Given the description of an element on the screen output the (x, y) to click on. 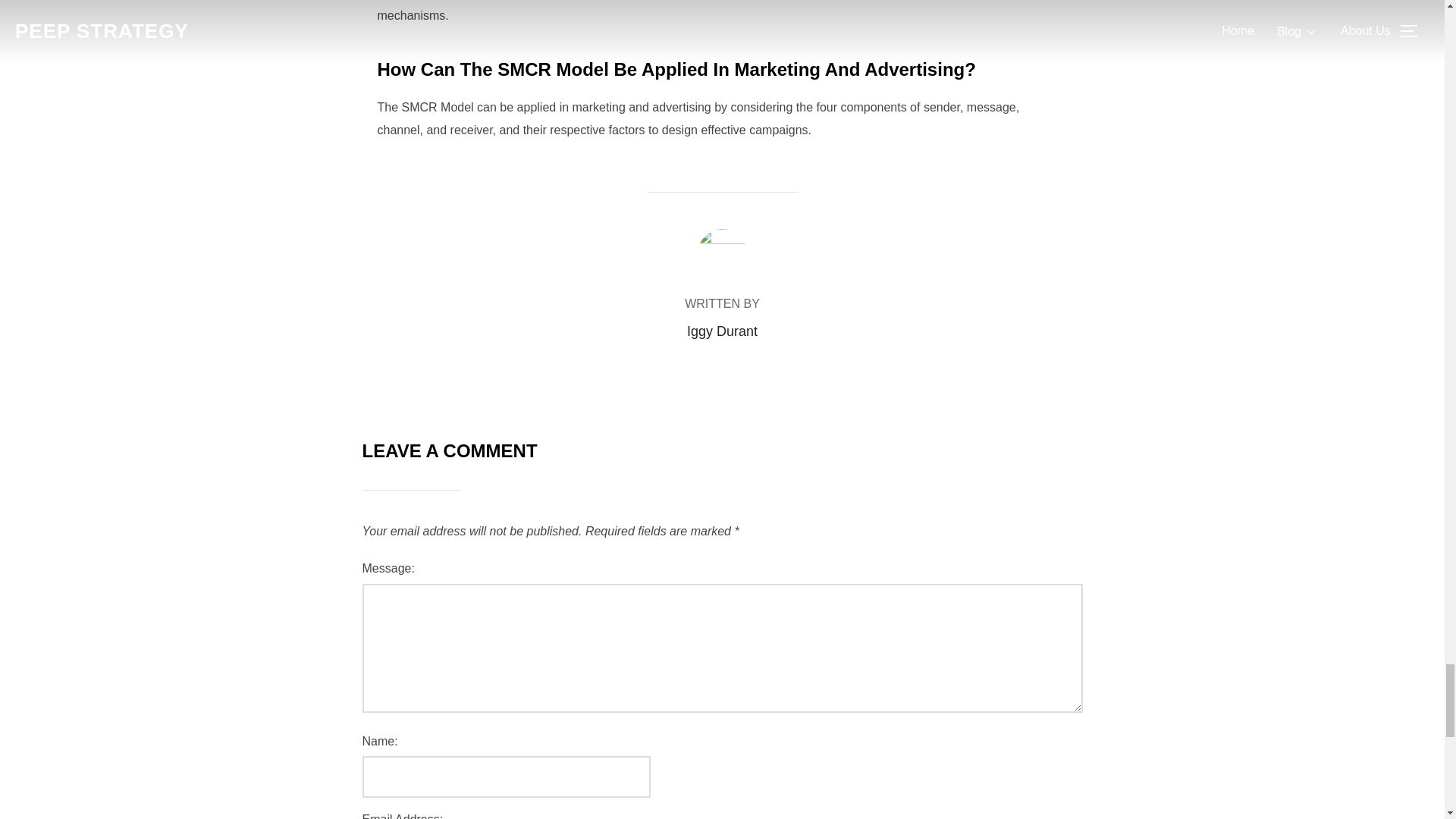
Posts by Iggy Durant (722, 331)
